Given the description of an element on the screen output the (x, y) to click on. 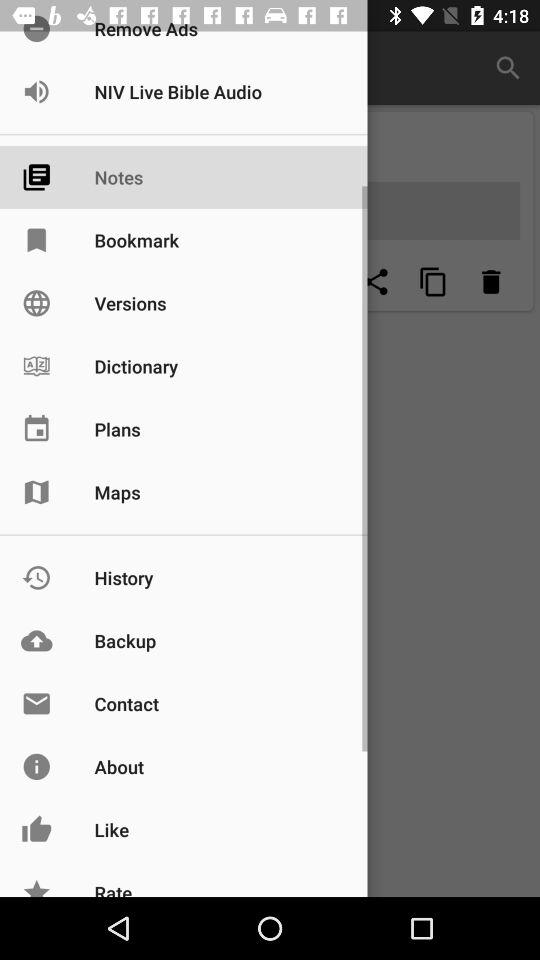
delete the option (491, 281)
